Given the description of an element on the screen output the (x, y) to click on. 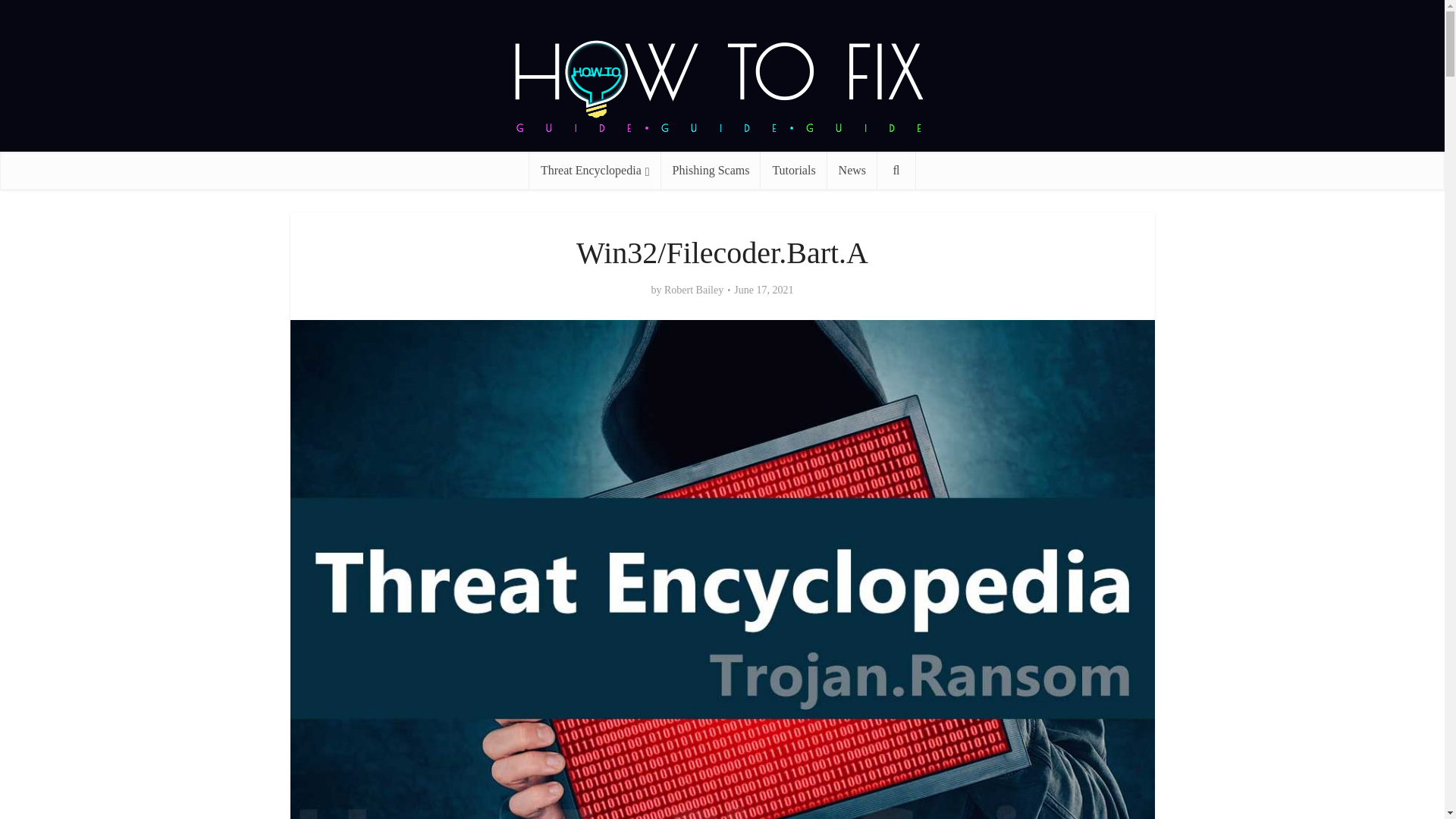
Robert Bailey (693, 290)
Phishing Scams (711, 170)
Threat Encyclopedia (595, 170)
News (852, 170)
Tutorials (793, 170)
